Given the description of an element on the screen output the (x, y) to click on. 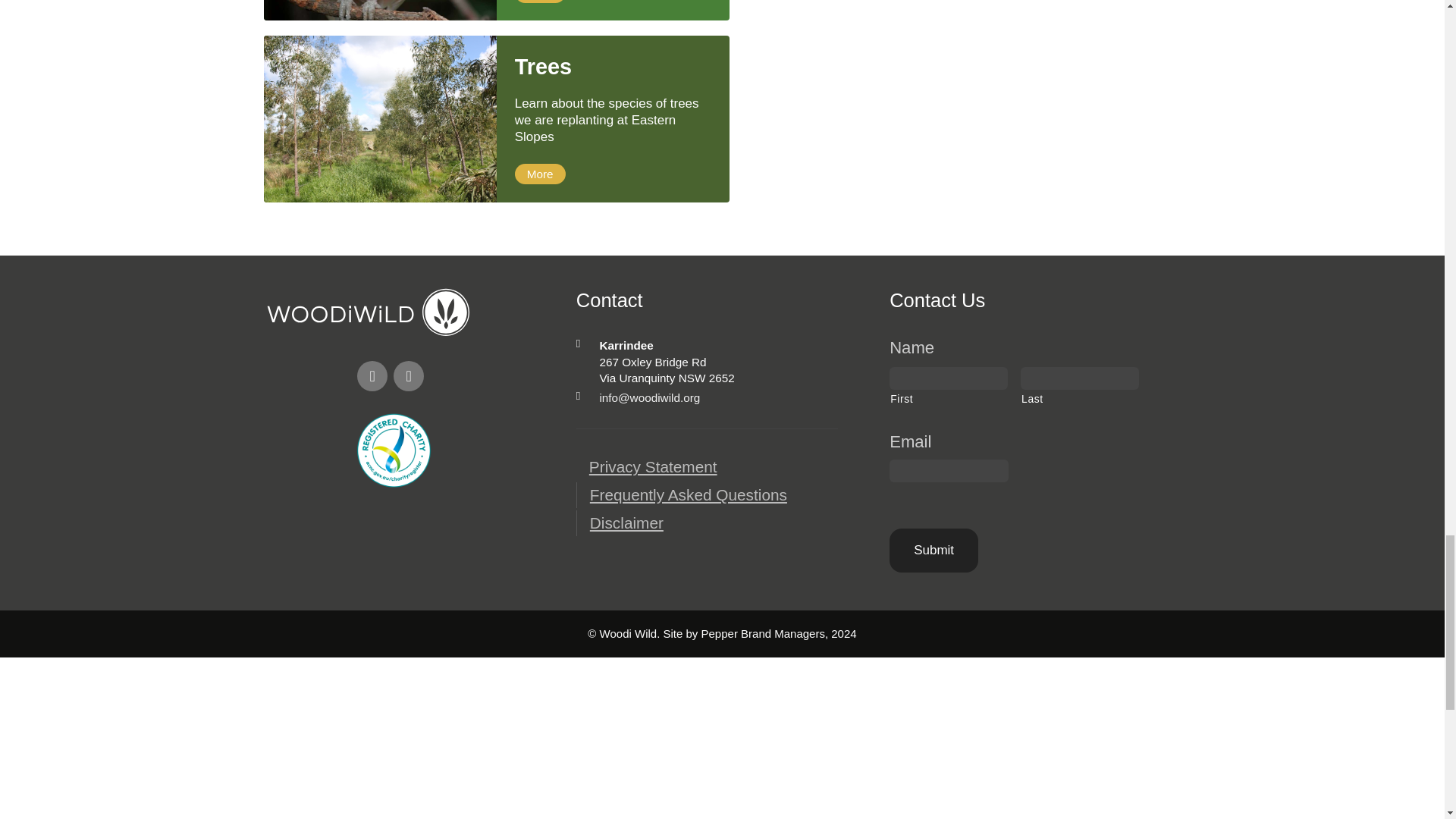
More (540, 1)
Trees (613, 67)
Submit (933, 550)
More (540, 173)
